Given the description of an element on the screen output the (x, y) to click on. 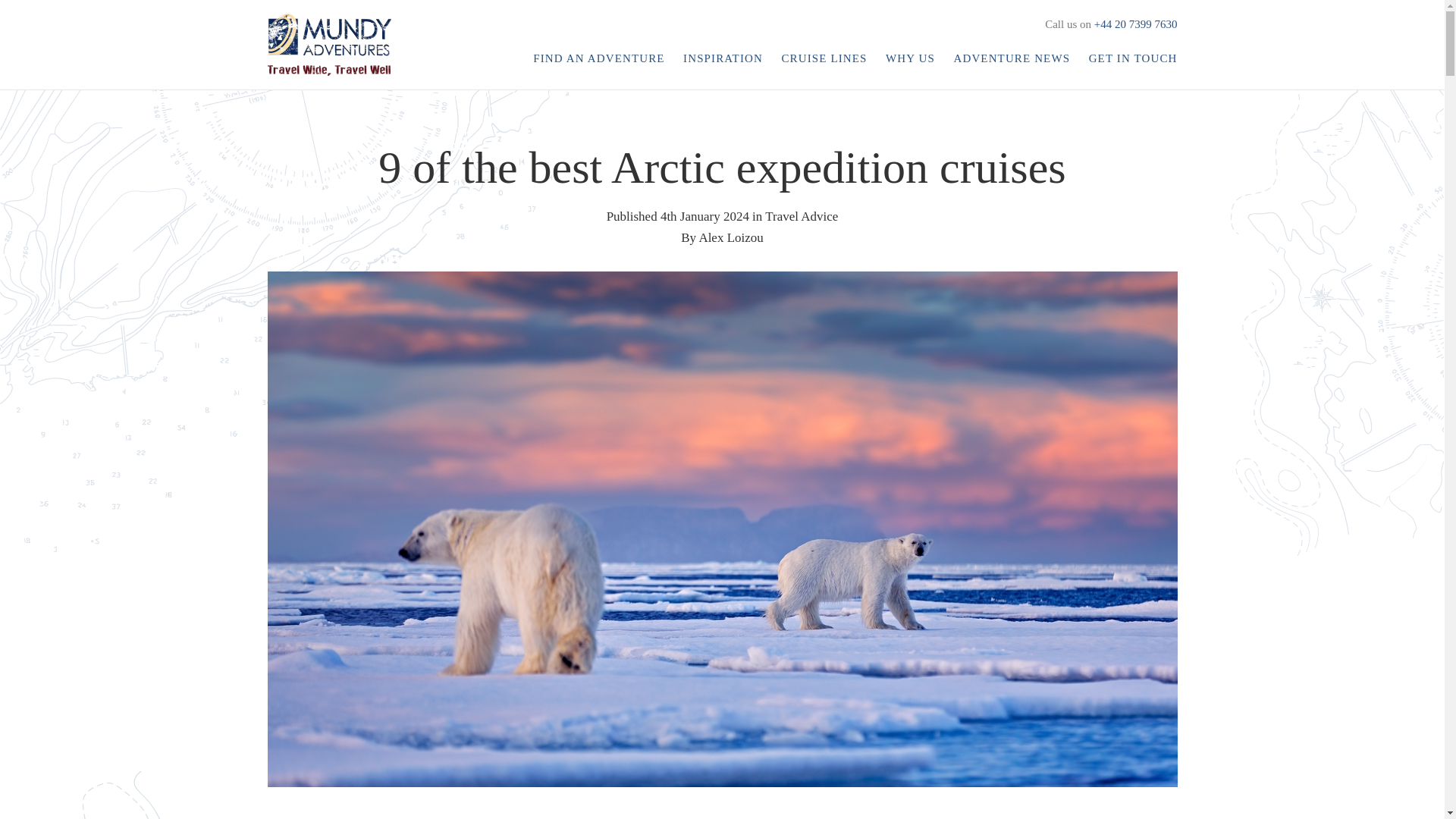
Travel Advice (801, 216)
WHY US (909, 58)
FIND AN ADVENTURE (598, 58)
CRUISE LINES (824, 58)
ADVENTURE NEWS (1012, 58)
GET IN TOUCH (1129, 58)
Alex Loizou (730, 237)
INSPIRATION (722, 58)
